Given the description of an element on the screen output the (x, y) to click on. 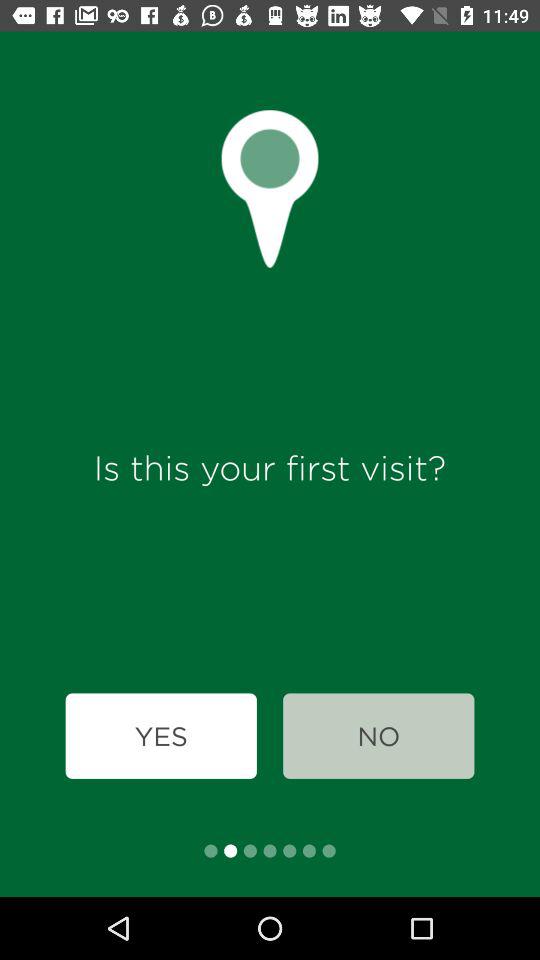
select item to the left of no icon (160, 735)
